Given the description of an element on the screen output the (x, y) to click on. 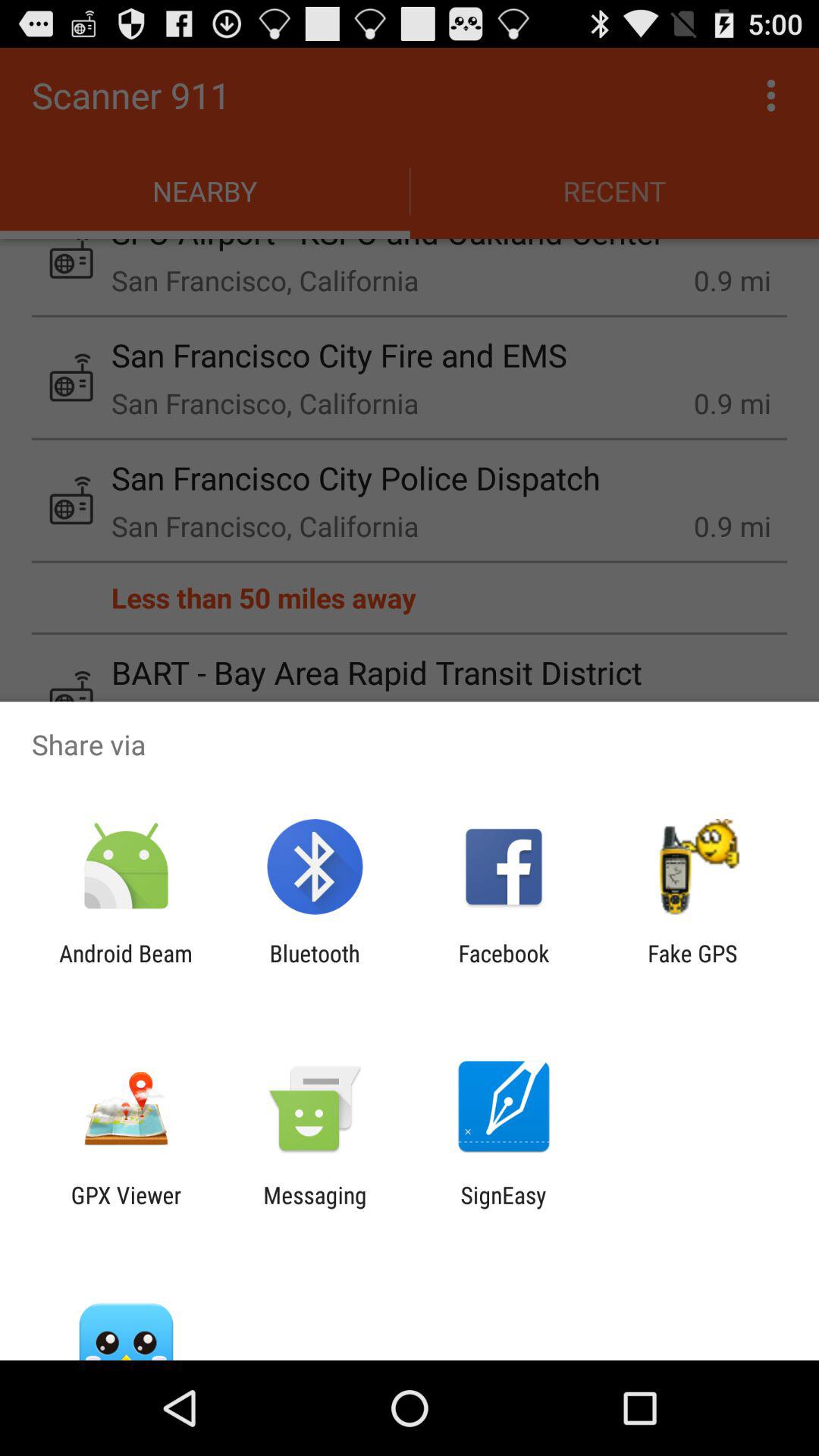
open the item next to the facebook item (314, 966)
